Given the description of an element on the screen output the (x, y) to click on. 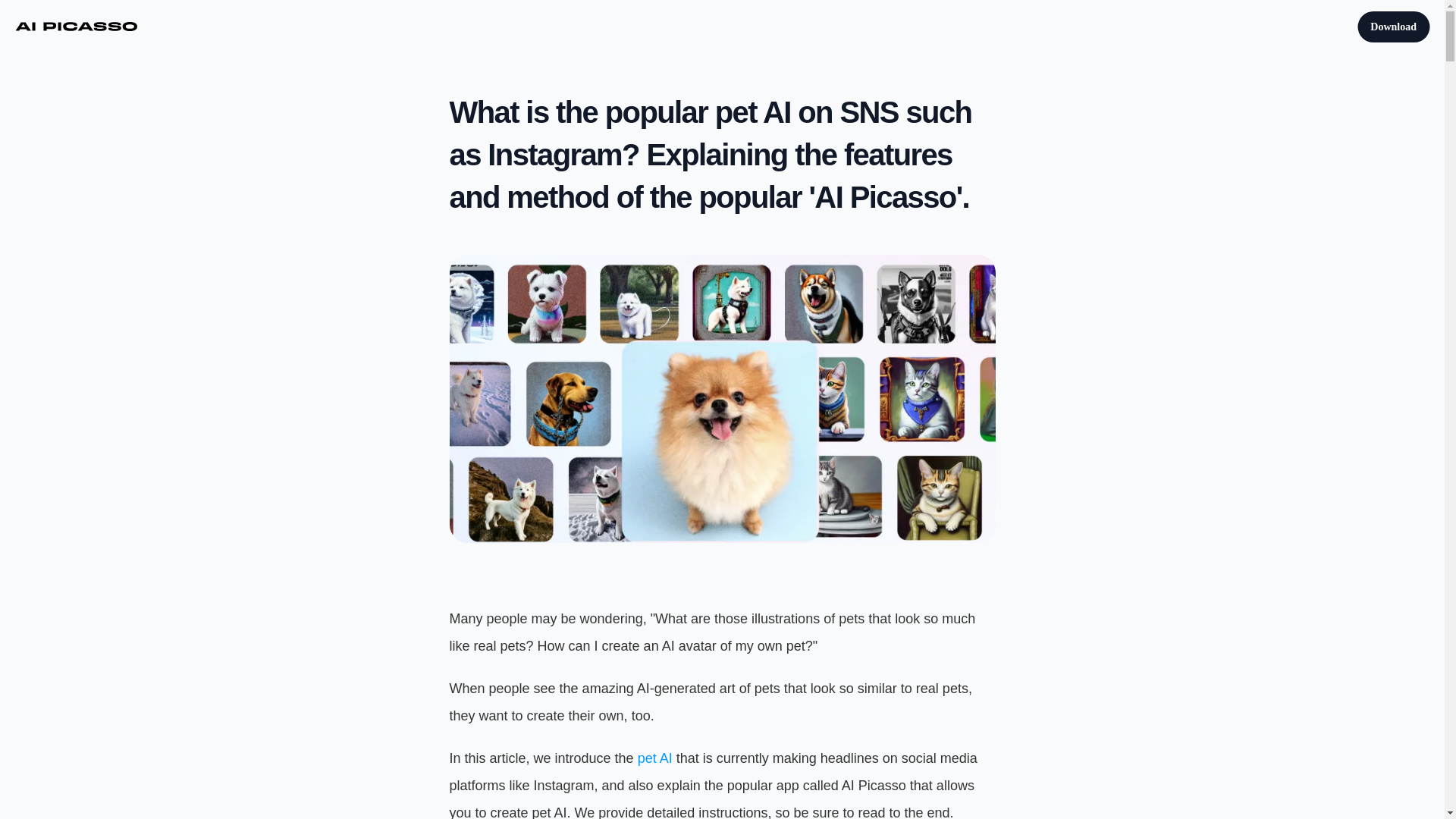
pet AI (654, 758)
